Given the description of an element on the screen output the (x, y) to click on. 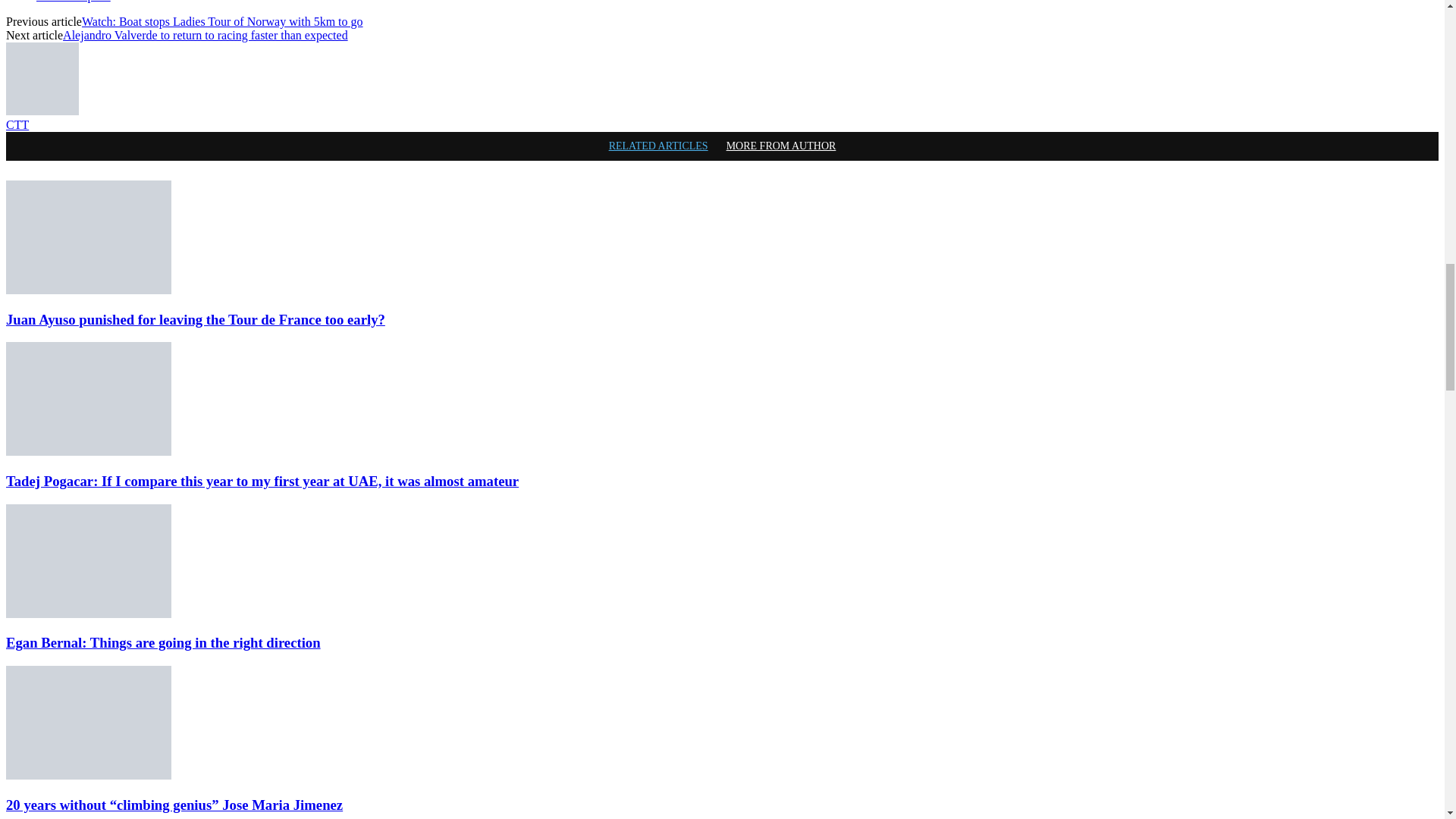
Egan Bernal: Things are going in the right direction (88, 561)
Egan Bernal: Things are going in the right direction (88, 613)
